Given the description of an element on the screen output the (x, y) to click on. 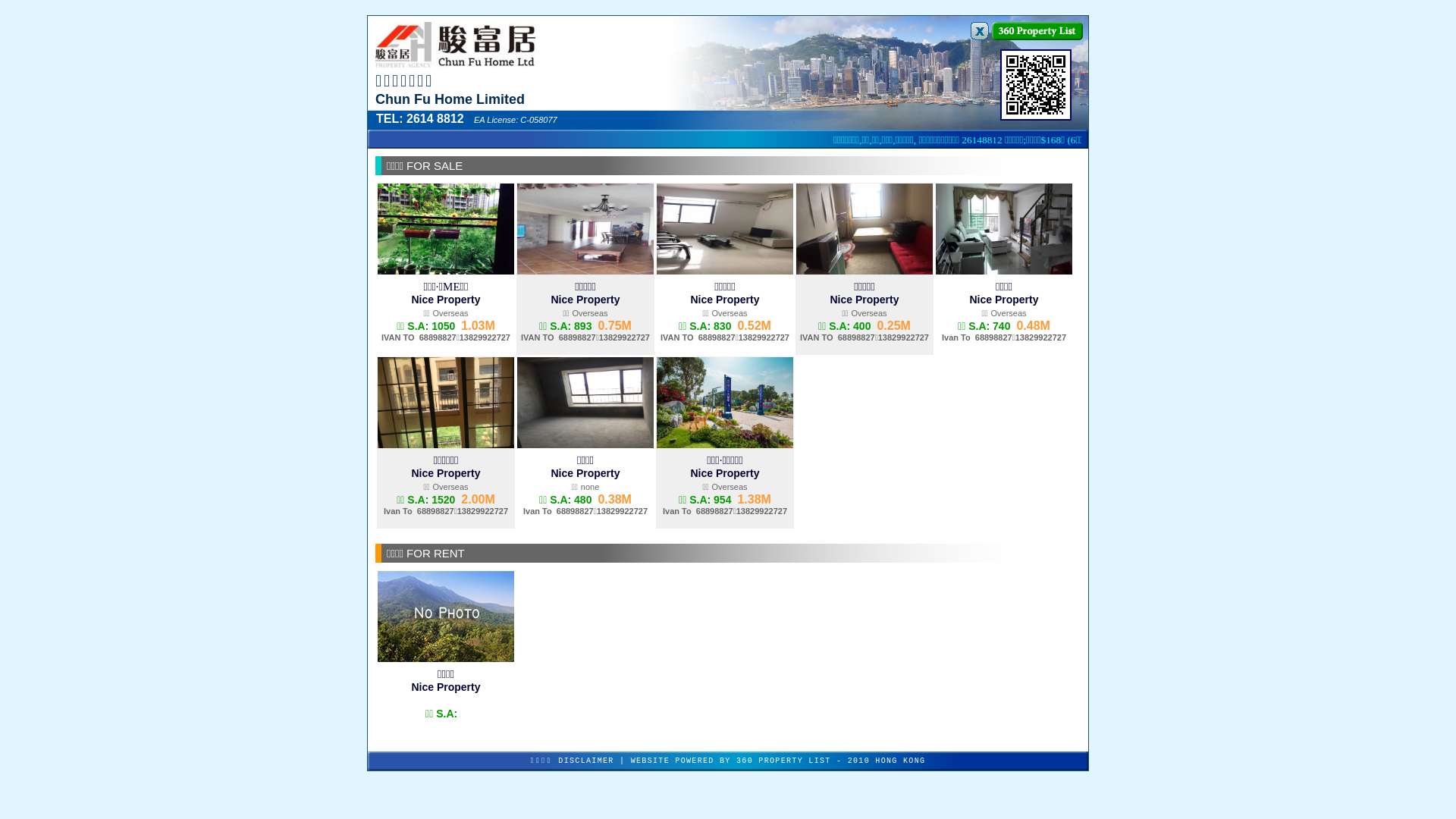
360 PROPERTY LIST Element type: text (783, 760)
Right click to save QR-Code Element type: hover (1035, 84)
